Given the description of an element on the screen output the (x, y) to click on. 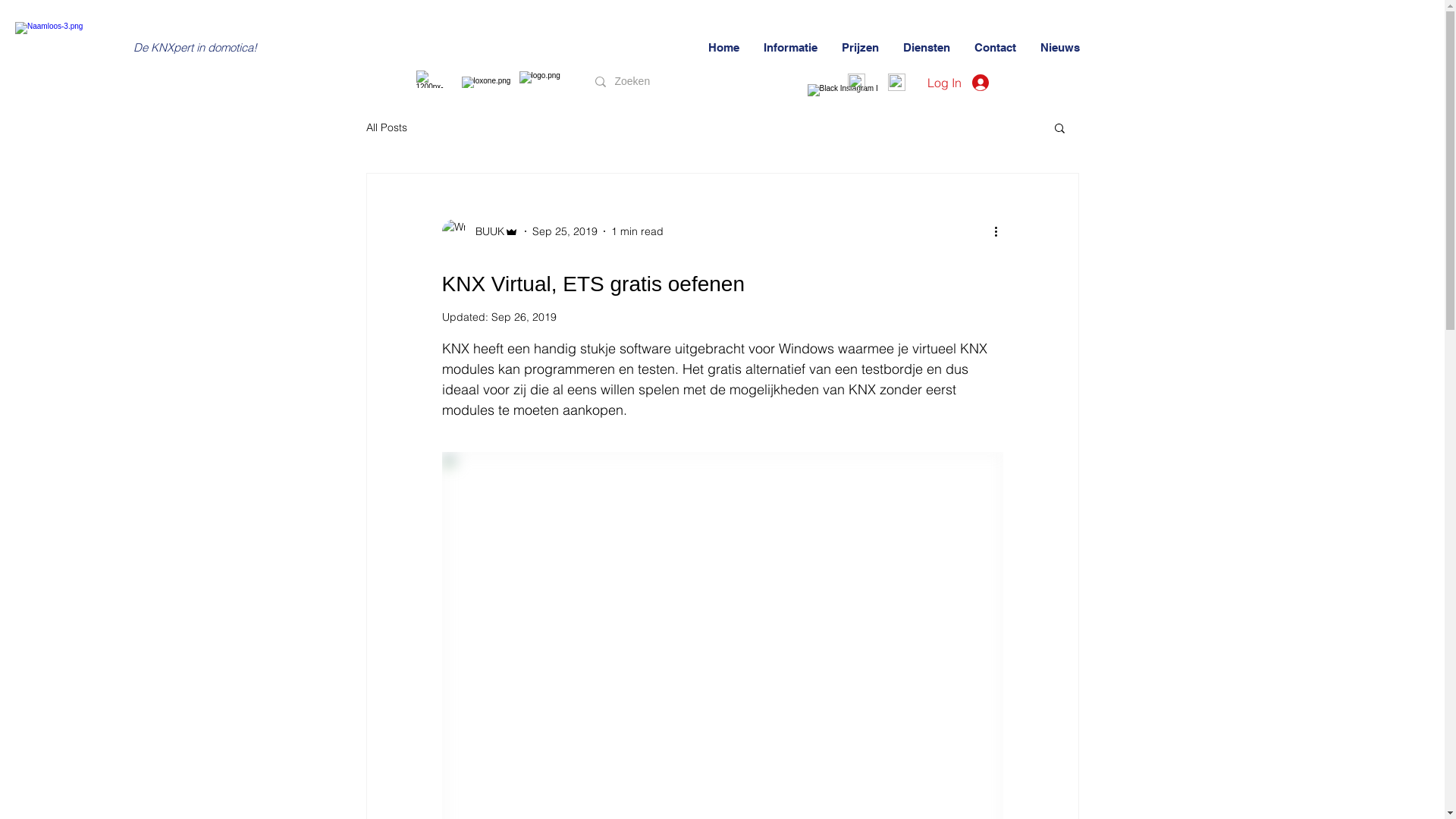
Home Element type: text (723, 48)
Diensten Element type: text (927, 48)
Log In Element type: text (957, 82)
Contact Element type: text (996, 48)
BUUK Element type: text (479, 231)
All Posts Element type: text (385, 127)
Informatie Element type: text (791, 48)
Nieuws Element type: text (1059, 48)
Prijzen Element type: text (860, 48)
